Given the description of an element on the screen output the (x, y) to click on. 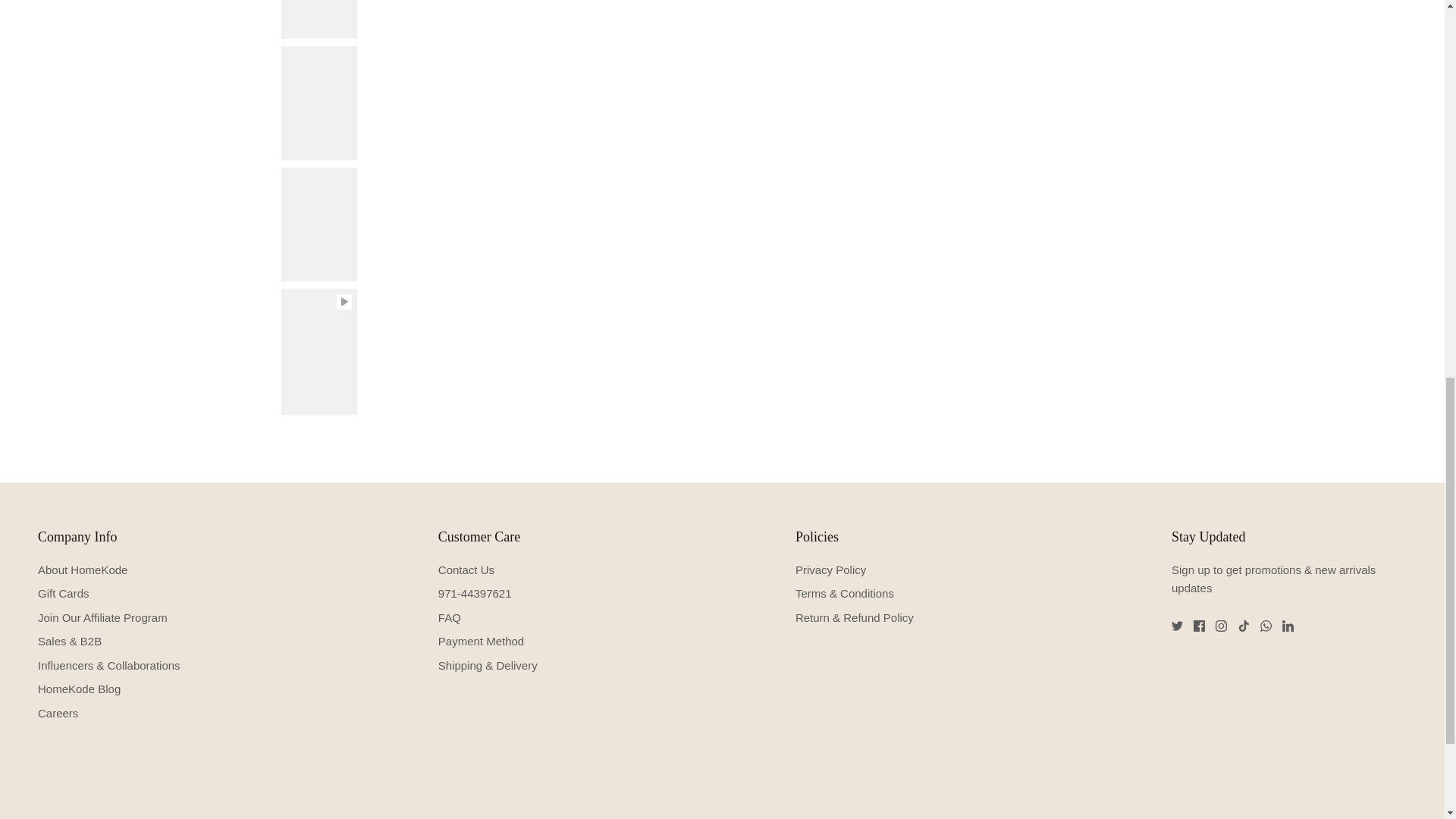
Facebook (1199, 625)
Instagram (1221, 625)
Twitter (1177, 625)
